Given the description of an element on the screen output the (x, y) to click on. 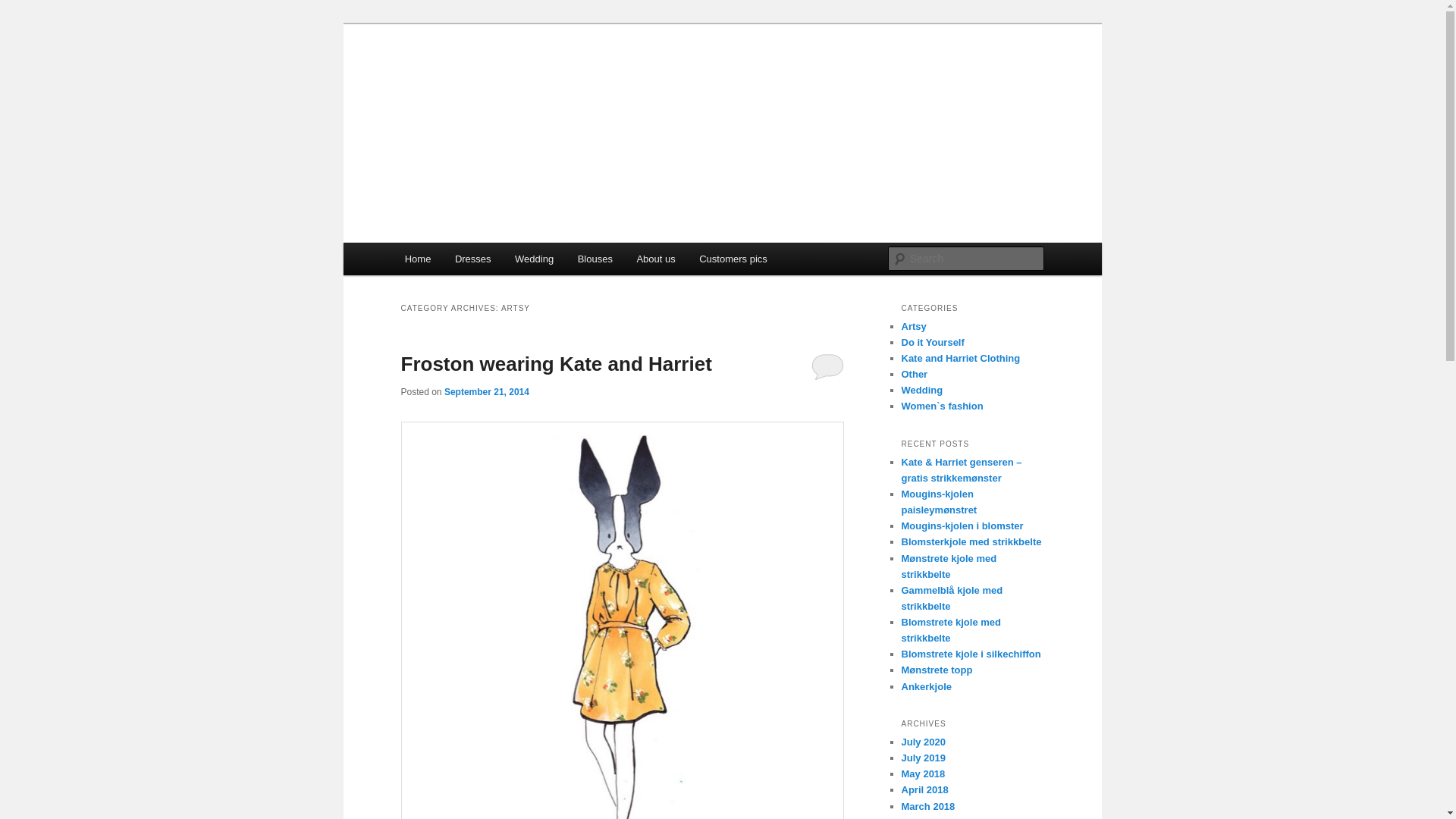
September 21, 2014 (486, 391)
Customers pics (732, 258)
Search (24, 8)
Dresses (472, 258)
08:49 (486, 391)
Wedding (534, 258)
Froston wearing Kate and Harriet (555, 363)
Home (417, 258)
Blouses (595, 258)
